Given the description of an element on the screen output the (x, y) to click on. 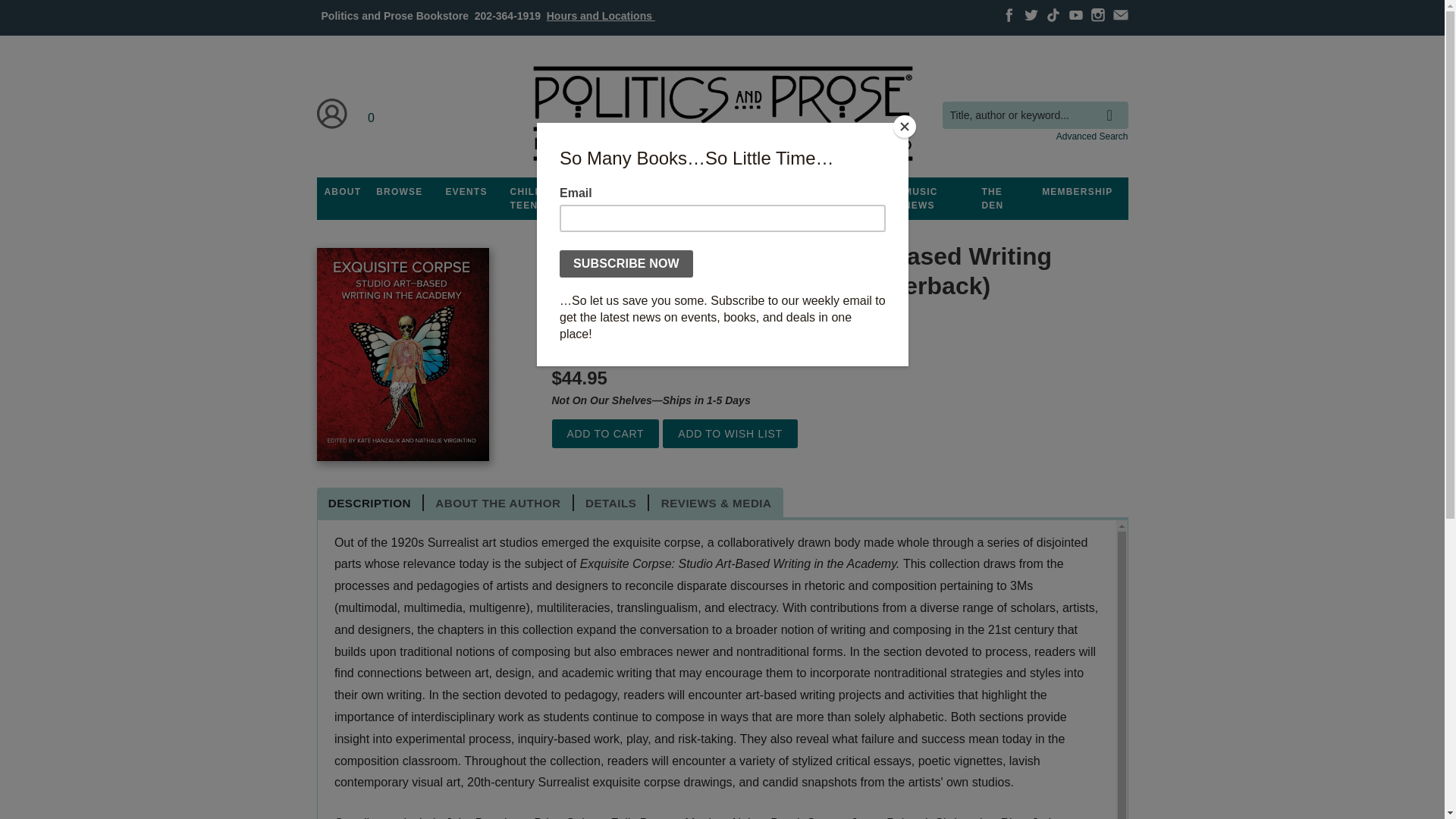
See our event calendar (465, 191)
EVENTS (465, 191)
search (1112, 103)
See our store ours and locations (601, 15)
BROWSE (398, 191)
search (1112, 103)
Children and Teens Department (548, 198)
Browse our shelves (398, 191)
ABOUT (343, 191)
Add to Cart (605, 433)
SUBSCRIPTIONS (722, 191)
Hours and Locations  (601, 15)
Add to Wish List (729, 433)
Advanced Search (1092, 136)
PROGRAMS (633, 191)
